Given the description of an element on the screen output the (x, y) to click on. 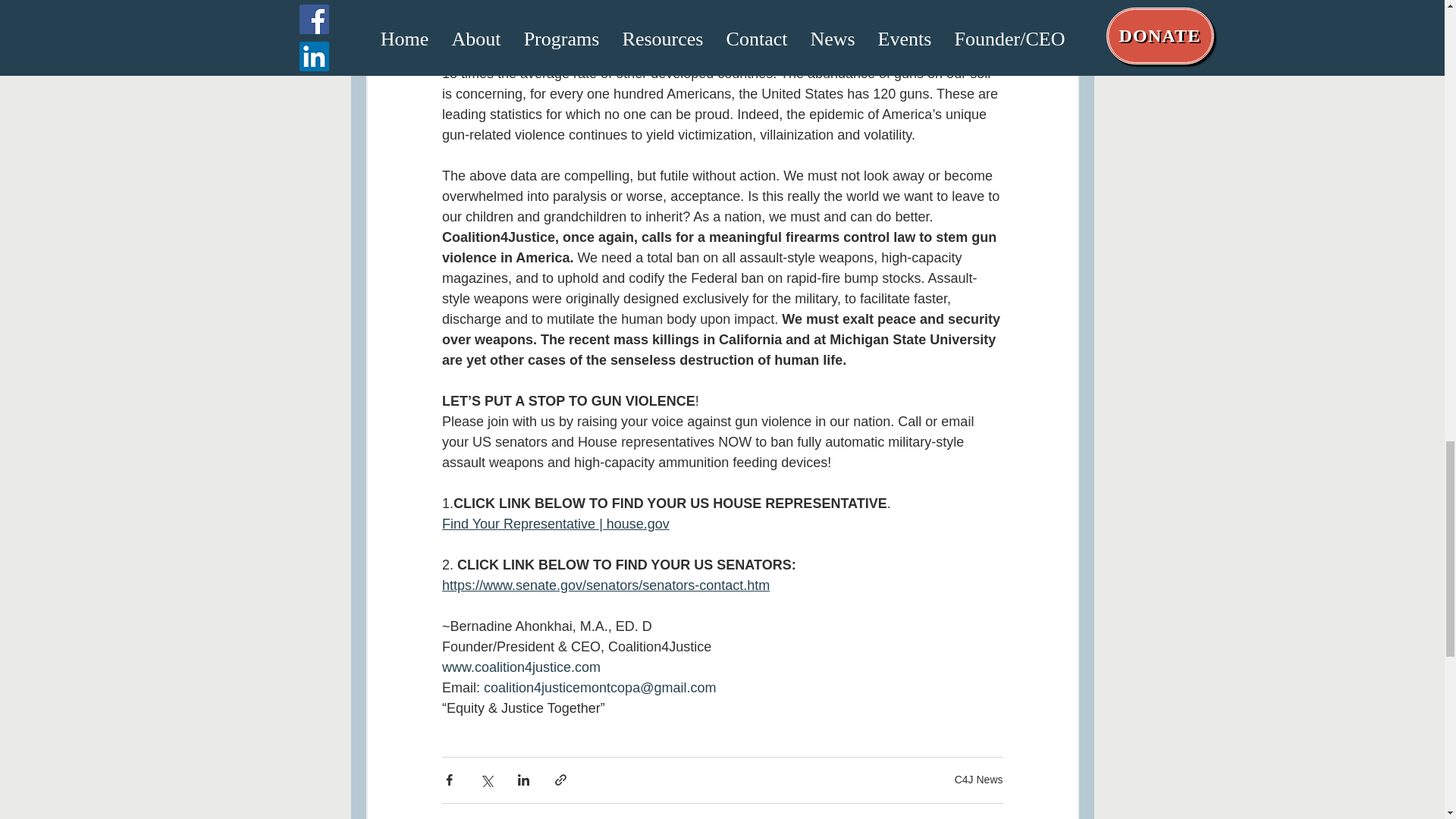
C4J News (979, 779)
www.coalition4justice.com (520, 667)
